Given the description of an element on the screen output the (x, y) to click on. 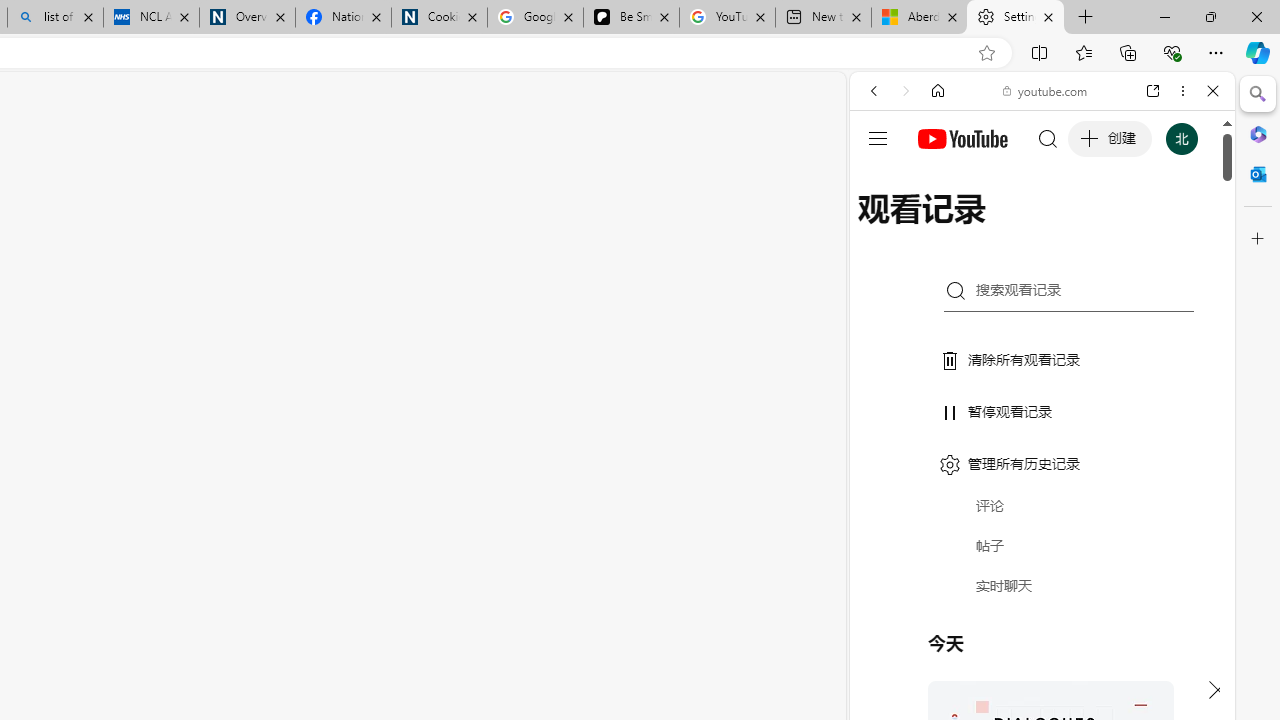
Cookies (439, 17)
